Given the description of an element on the screen output the (x, y) to click on. 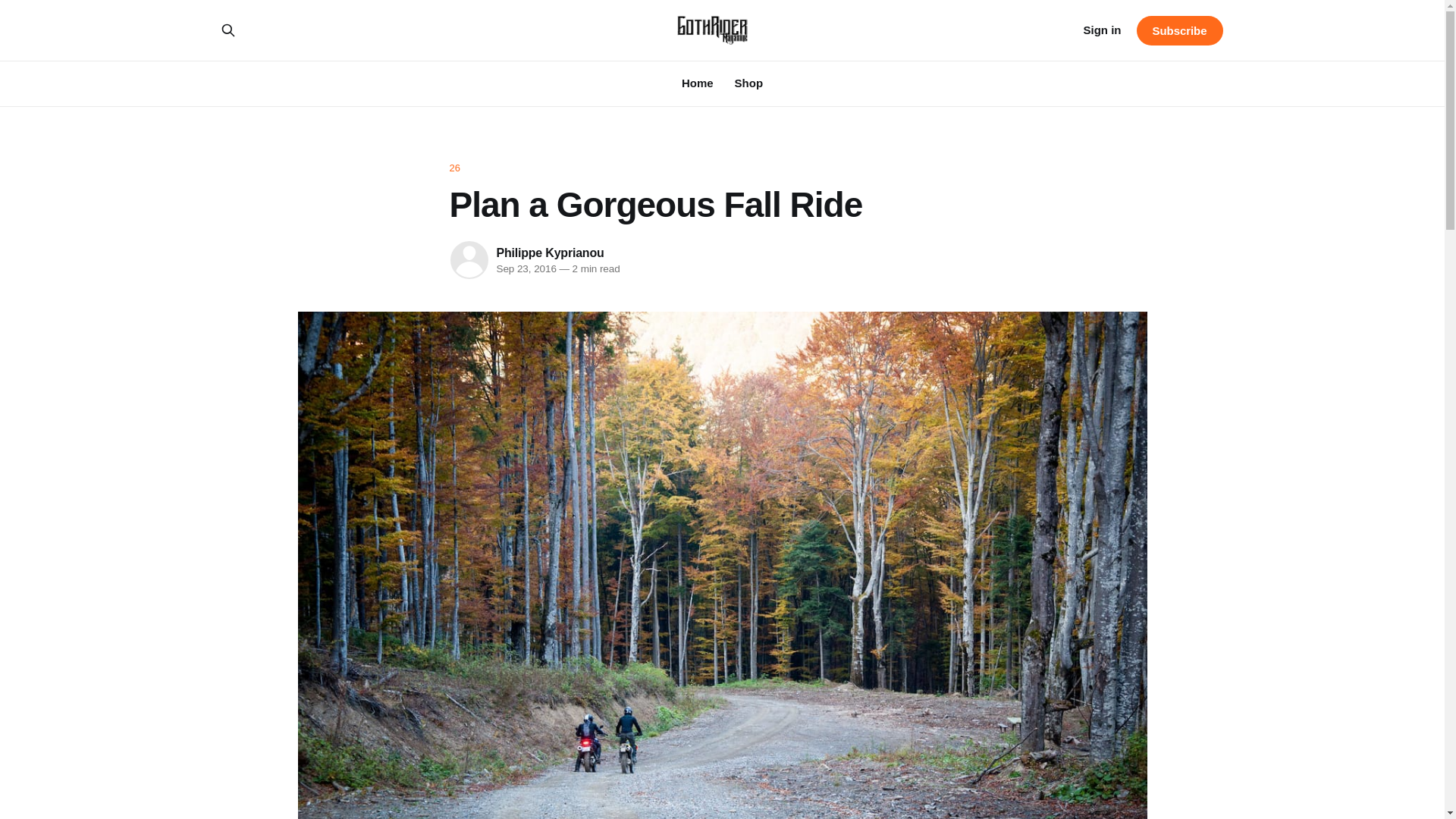
26 (721, 168)
Shop (748, 82)
Subscribe (1179, 30)
Sign in (1102, 30)
Philippe Kyprianou (550, 252)
Home (697, 82)
